Given the description of an element on the screen output the (x, y) to click on. 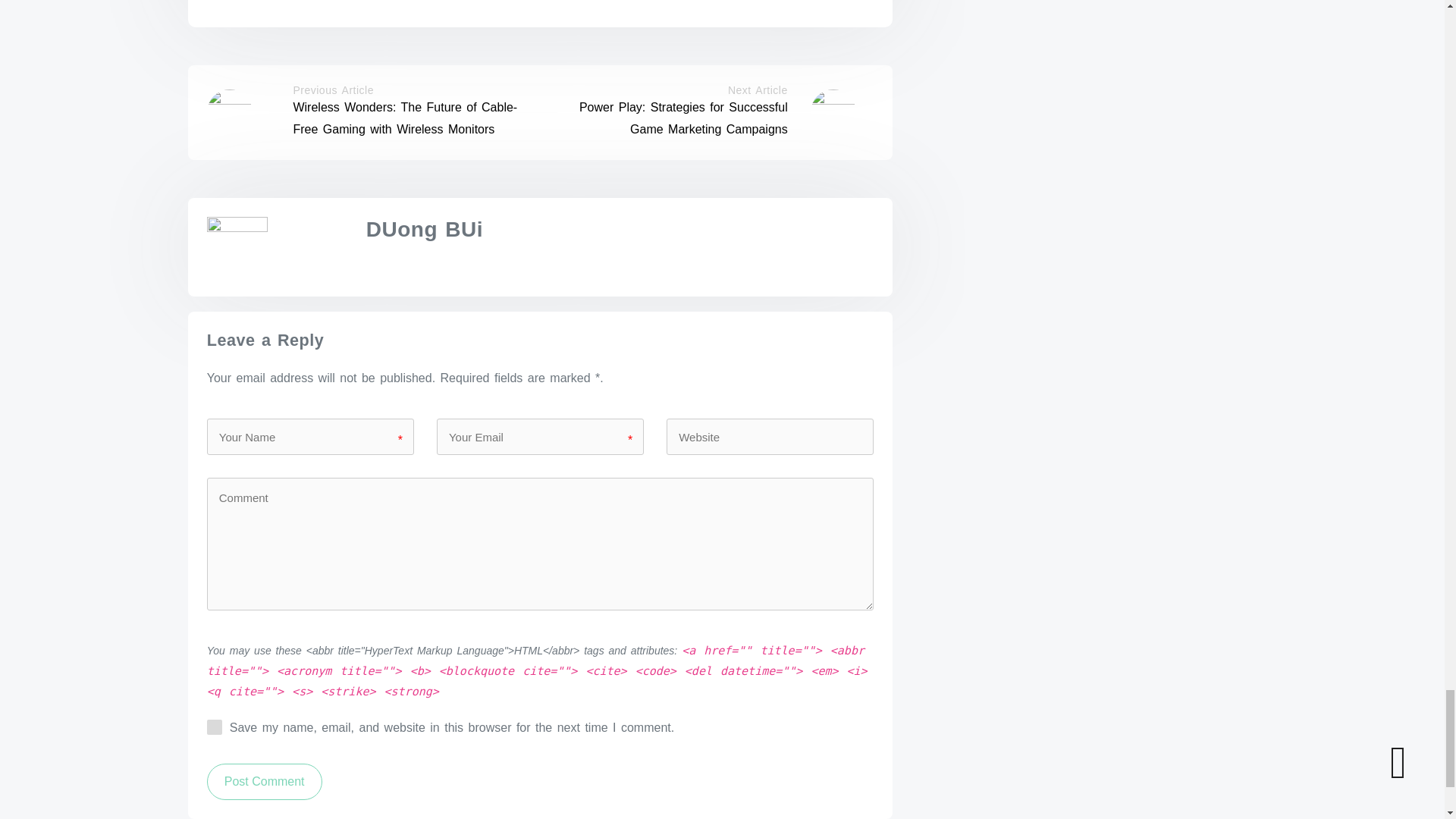
yes (214, 726)
